Given the description of an element on the screen output the (x, y) to click on. 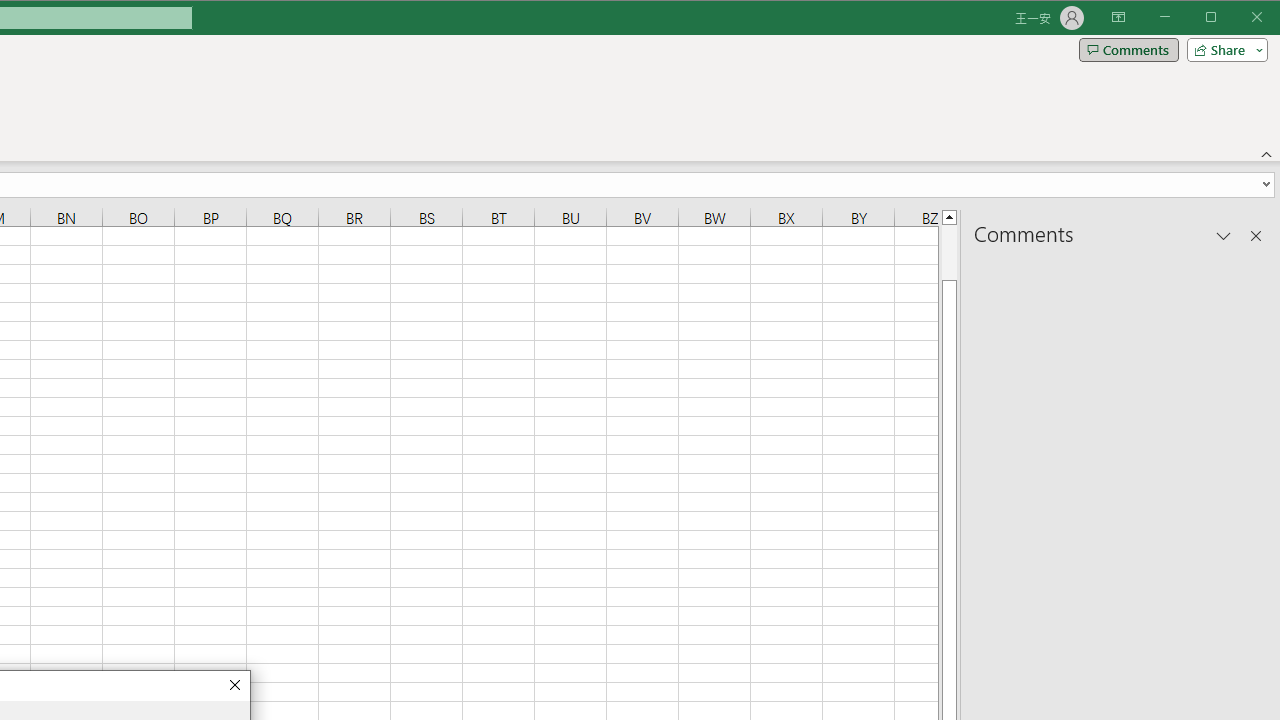
Task Pane Options (1224, 235)
Page up (948, 252)
Maximize (1239, 18)
Close pane (1256, 235)
